Given the description of an element on the screen output the (x, y) to click on. 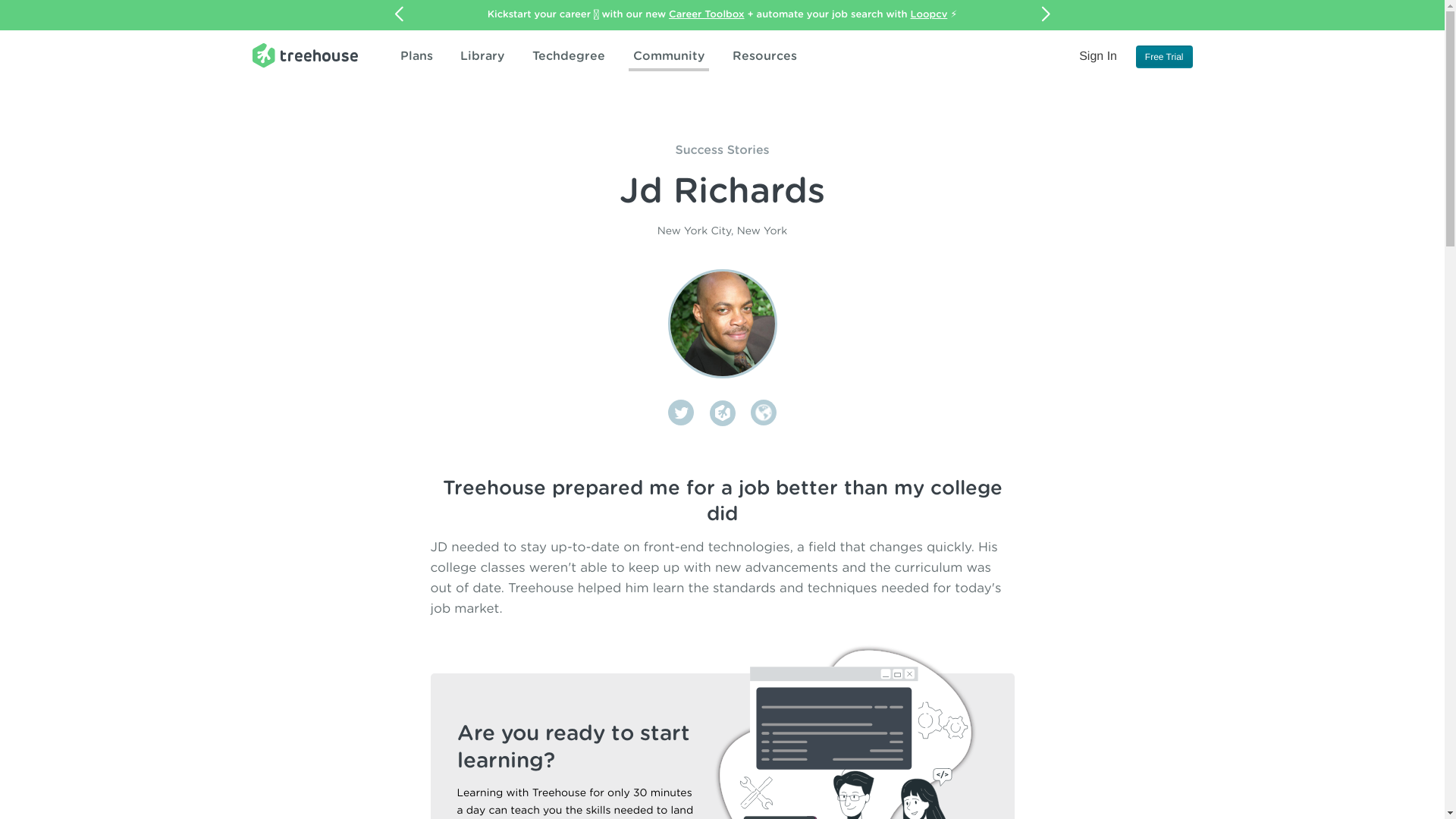
Website (763, 412)
Loopcv (929, 14)
Treehouse (722, 412)
Treehouse Logo (303, 55)
Treehouse Logo (303, 55)
Career Toolbox (706, 14)
Plans (417, 55)
Twitter (681, 412)
